Given the description of an element on the screen output the (x, y) to click on. 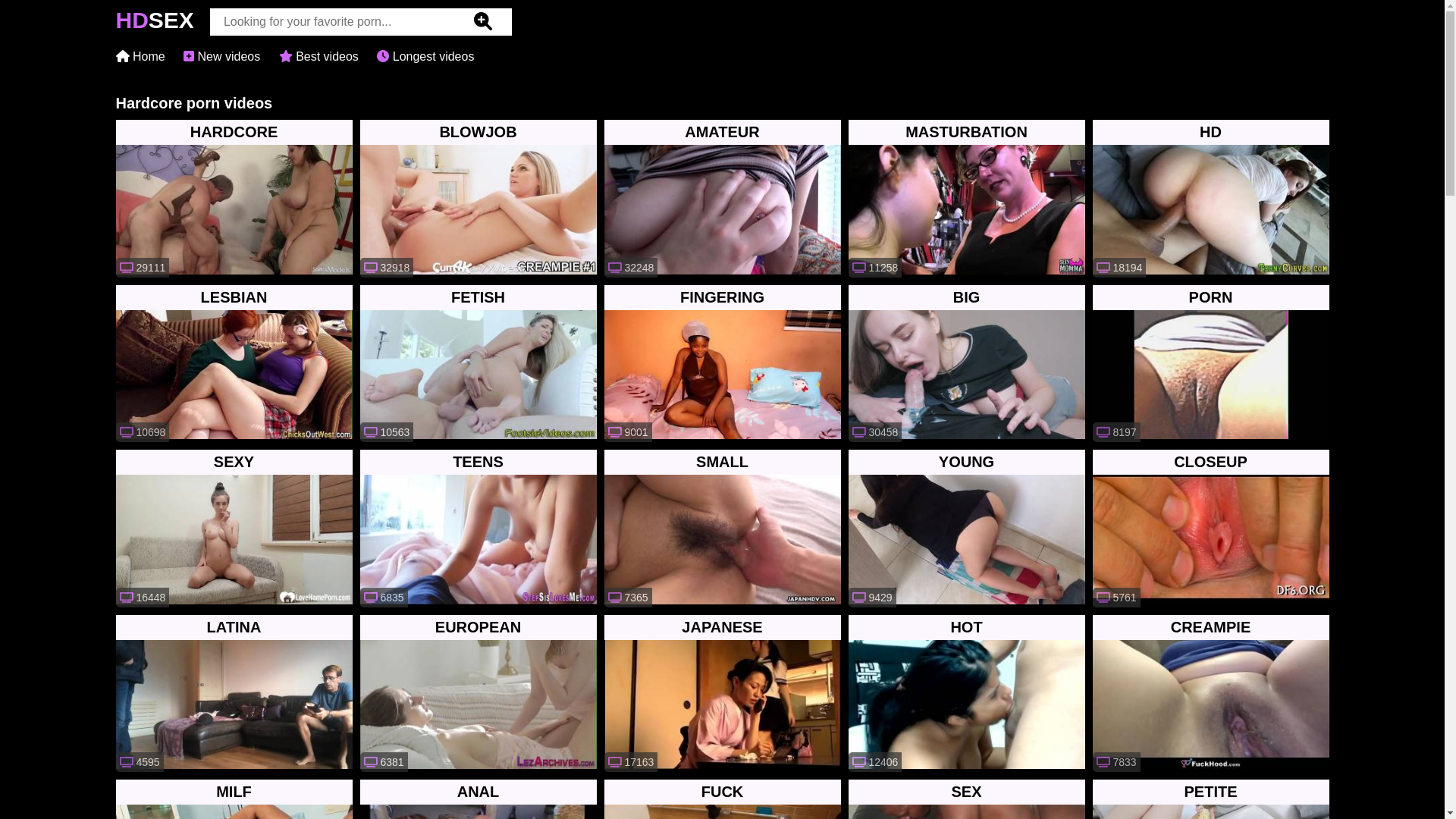
18194
HD Element type: text (1210, 198)
12406
HOT Element type: text (965, 692)
9001
FINGERING Element type: text (721, 363)
29111
HARDCORE Element type: text (233, 198)
9429
YOUNG Element type: text (965, 528)
10563
FETISH Element type: text (477, 363)
10698
LESBIAN Element type: text (233, 363)
32248
AMATEUR Element type: text (721, 198)
Home Element type: text (139, 56)
HDSEX Element type: text (154, 24)
New videos Element type: text (221, 56)
7833
CREAMPIE Element type: text (1210, 692)
Longest videos Element type: text (424, 56)
30458
BIG Element type: text (965, 363)
11258
MASTURBATION Element type: text (965, 198)
16448
SEXY Element type: text (233, 528)
6835
TEENS Element type: text (477, 528)
4595
LATINA Element type: text (233, 692)
Best videos Element type: text (318, 56)
6381
EUROPEAN Element type: text (477, 692)
32918
BLOWJOB Element type: text (477, 198)
8197
PORN Element type: text (1210, 363)
7365
SMALL Element type: text (721, 528)
5761
CLOSEUP Element type: text (1210, 528)
17163
JAPANESE Element type: text (721, 692)
